Given the description of an element on the screen output the (x, y) to click on. 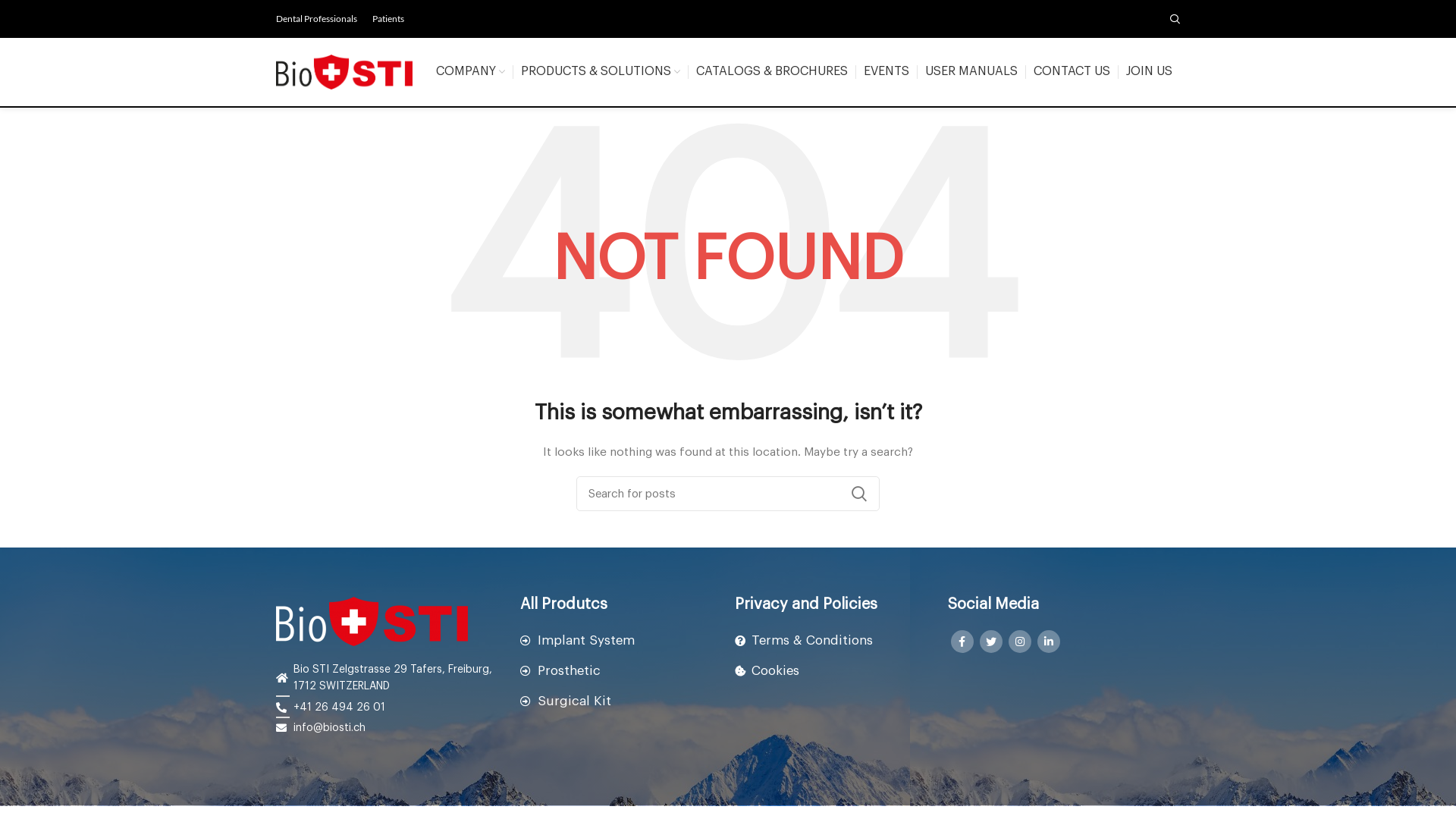
EVENTS Element type: text (885, 71)
Prosthetic Element type: text (619, 670)
PRODUCTS & SOLUTIONS Element type: text (599, 71)
CATALOGS & BROCHURES Element type: text (771, 71)
Cookies Element type: text (833, 670)
Terms & Conditions Element type: text (833, 640)
Patients Element type: text (387, 18)
biosti-logo-w Element type: hover (371, 621)
CONTACT US Element type: text (1071, 71)
USER MANUALS Element type: text (971, 71)
Implant System Element type: text (619, 640)
JOIN US Element type: text (1148, 71)
Search Element type: hover (1174, 18)
Surgical Kit Element type: text (619, 700)
SEARCH Element type: text (859, 493)
Search for posts Element type: hover (727, 493)
COMPANY Element type: text (469, 71)
Dental Professionals Element type: text (316, 18)
